Given the description of an element on the screen output the (x, y) to click on. 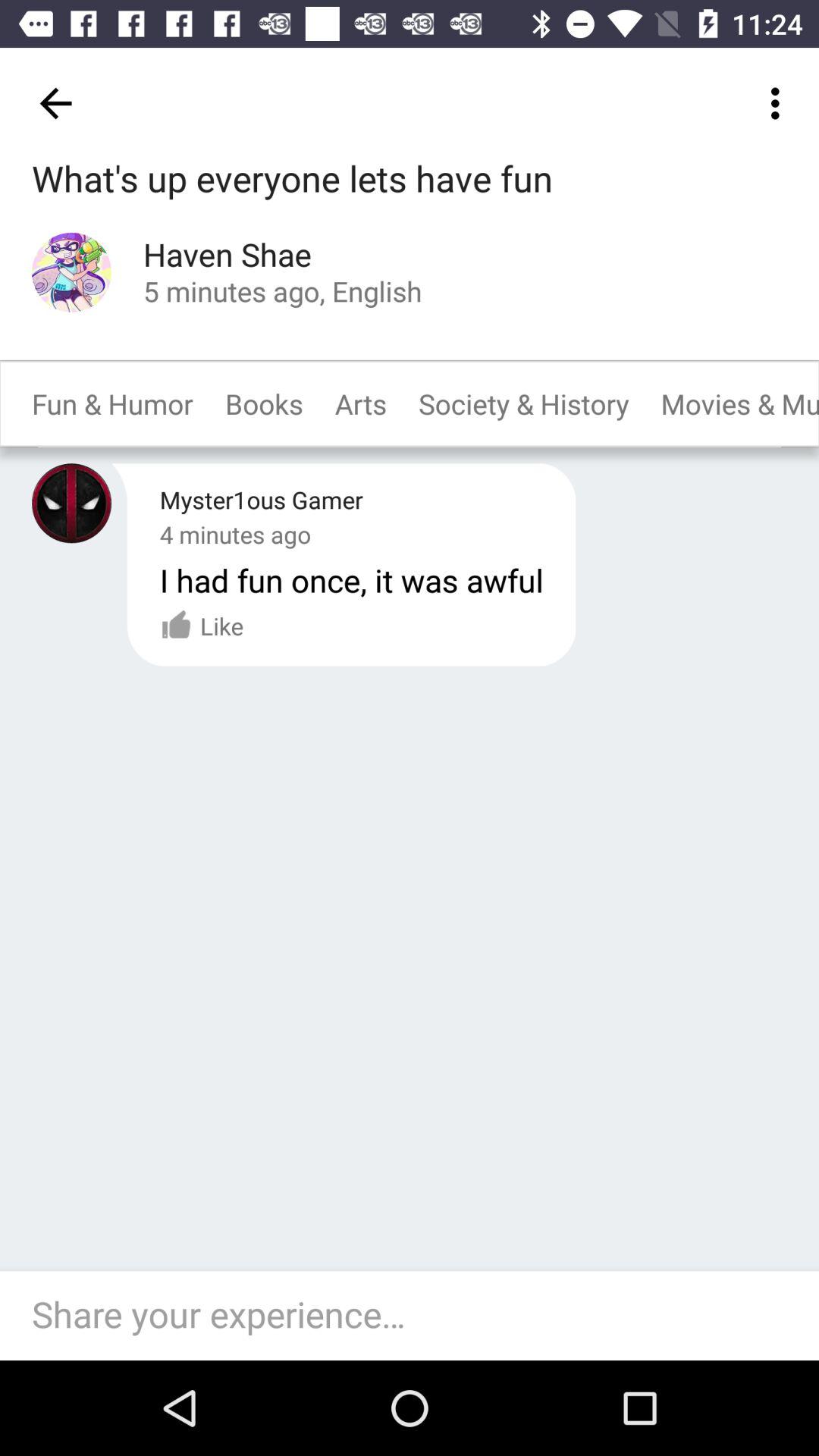
launch the i had fun (351, 579)
